Given the description of an element on the screen output the (x, y) to click on. 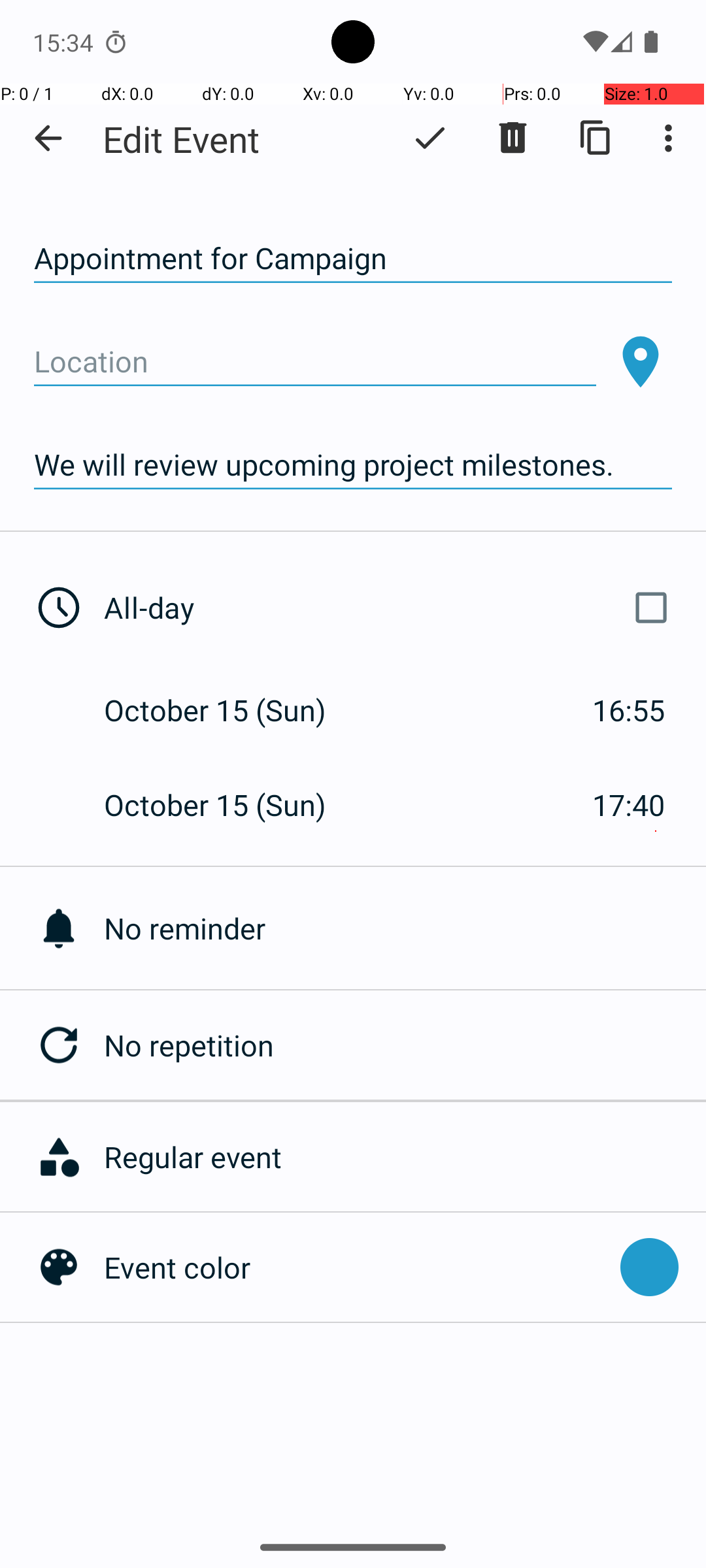
We will review upcoming project milestones. Element type: android.widget.EditText (352, 465)
16:55 Element type: android.widget.TextView (628, 709)
17:40 Element type: android.widget.TextView (628, 804)
